Given the description of an element on the screen output the (x, y) to click on. 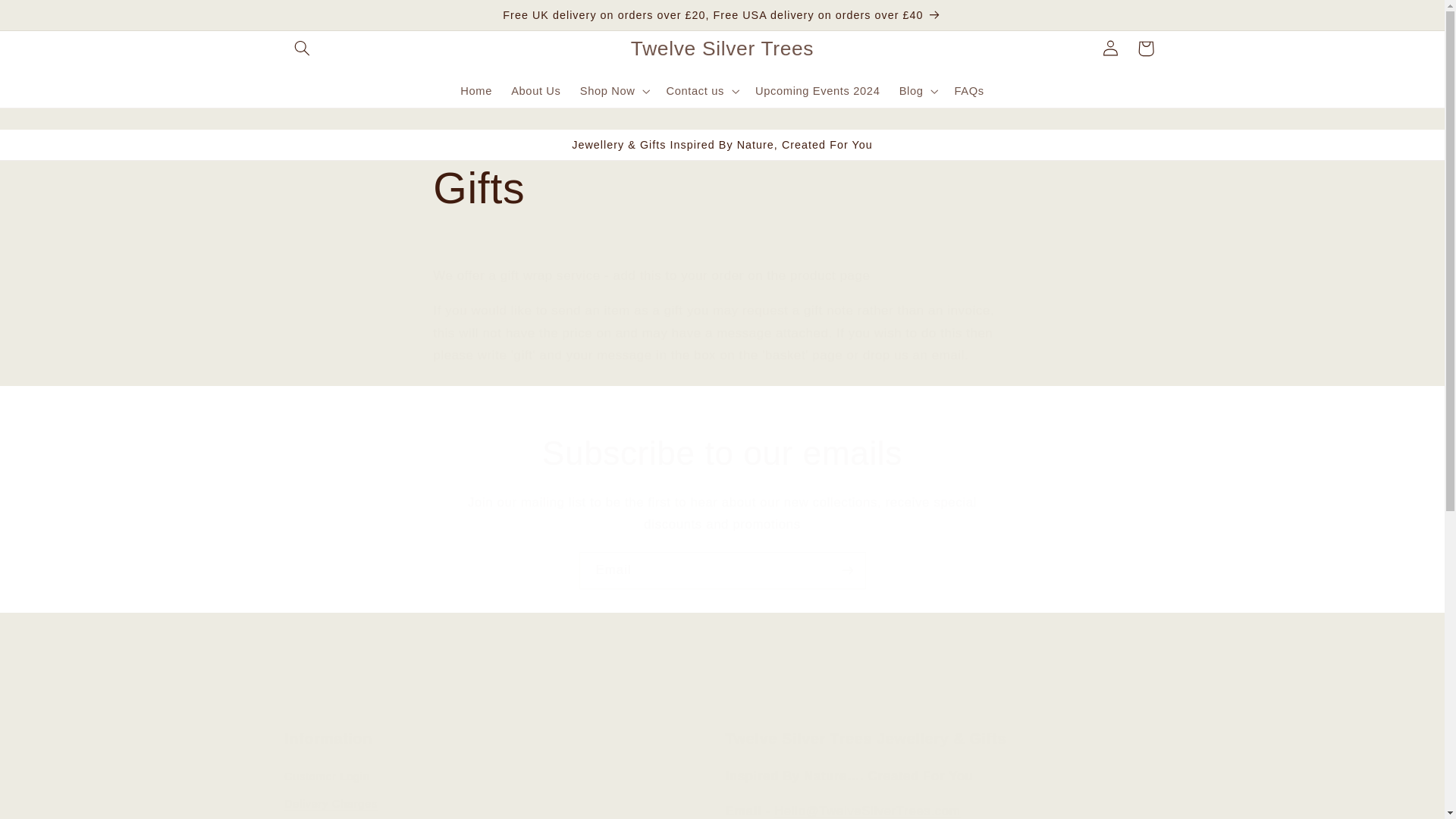
Skip to content (47, 17)
Subscribe to our emails (722, 453)
Email (722, 570)
Gift wrap option for twelve silver trees  (688, 391)
Gifts (721, 188)
